Given the description of an element on the screen output the (x, y) to click on. 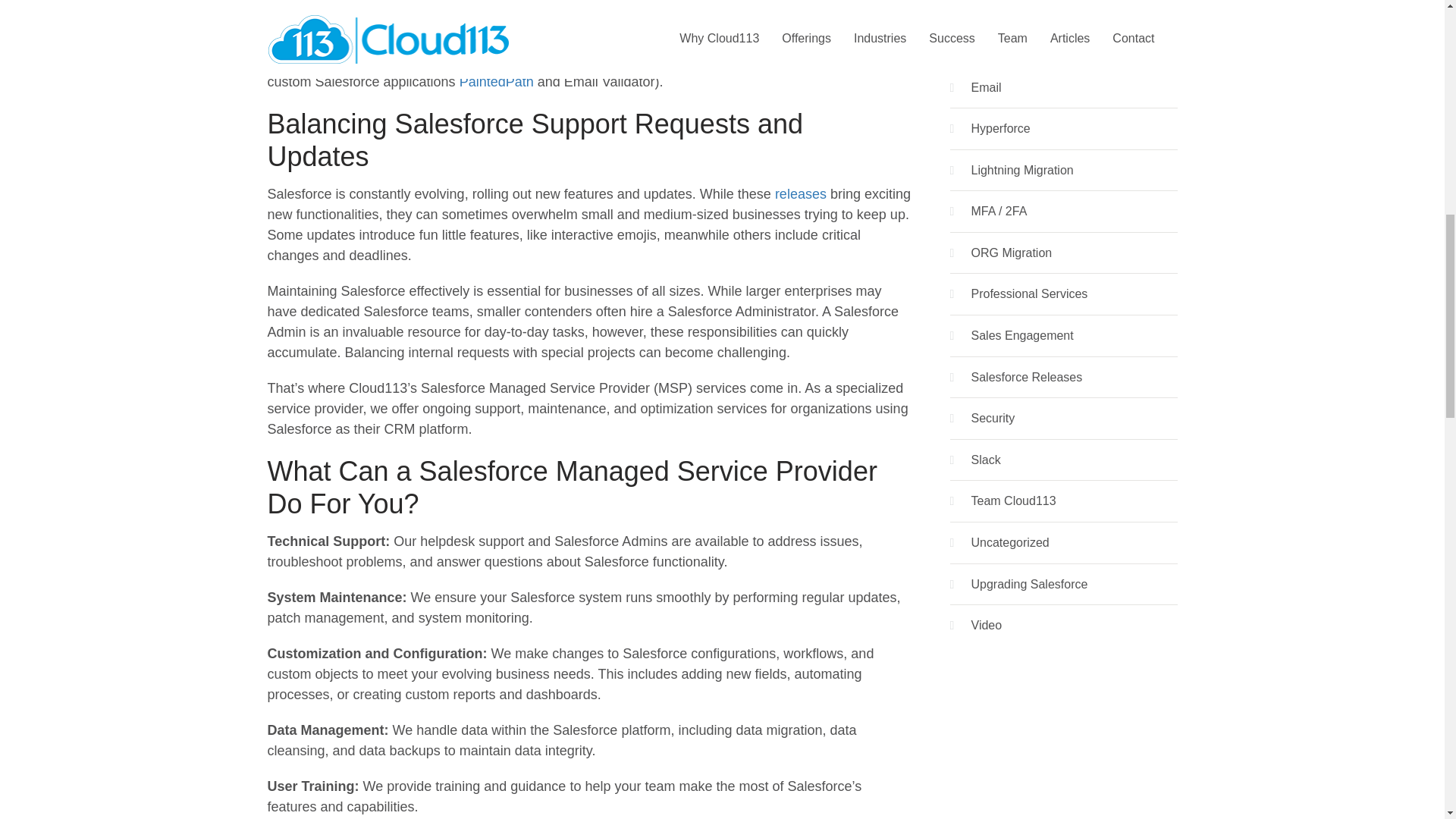
releases (800, 193)
Email (986, 88)
PaintedPath  (498, 81)
